Given the description of an element on the screen output the (x, y) to click on. 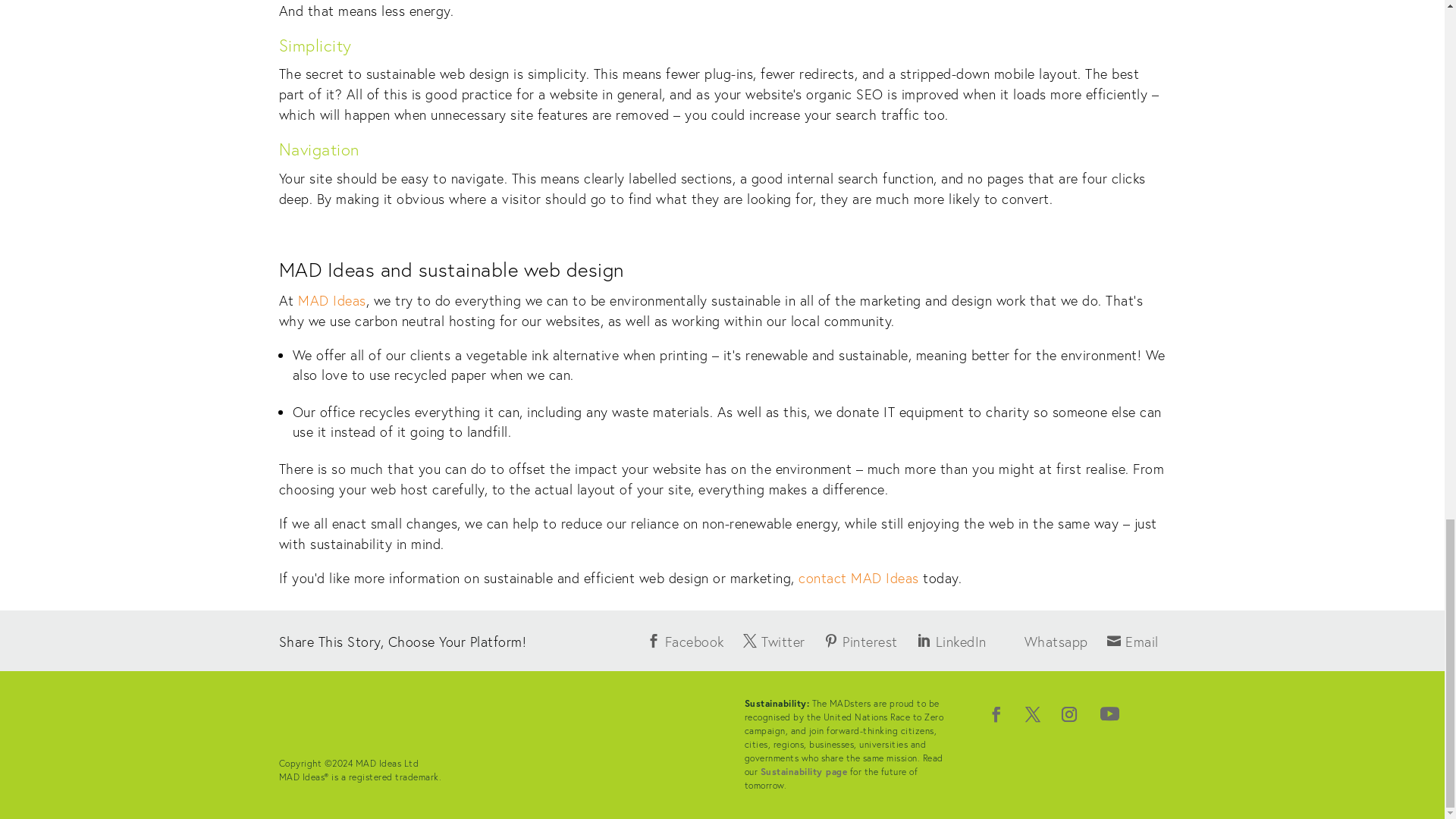
Whatsapp (1042, 641)
Facebook (683, 641)
Tweet (772, 641)
LinkedIn (947, 641)
Follow on Youtube (1109, 715)
Twitter (772, 641)
Follow on Facebook (996, 716)
Sustainability page (803, 771)
Pin it (858, 641)
MAD Ideas (332, 300)
Share on Facebook (683, 641)
contact MAD Ideas (857, 577)
Follow on Instagram (1069, 716)
Follow on X (1032, 716)
Email (1128, 641)
